Given the description of an element on the screen output the (x, y) to click on. 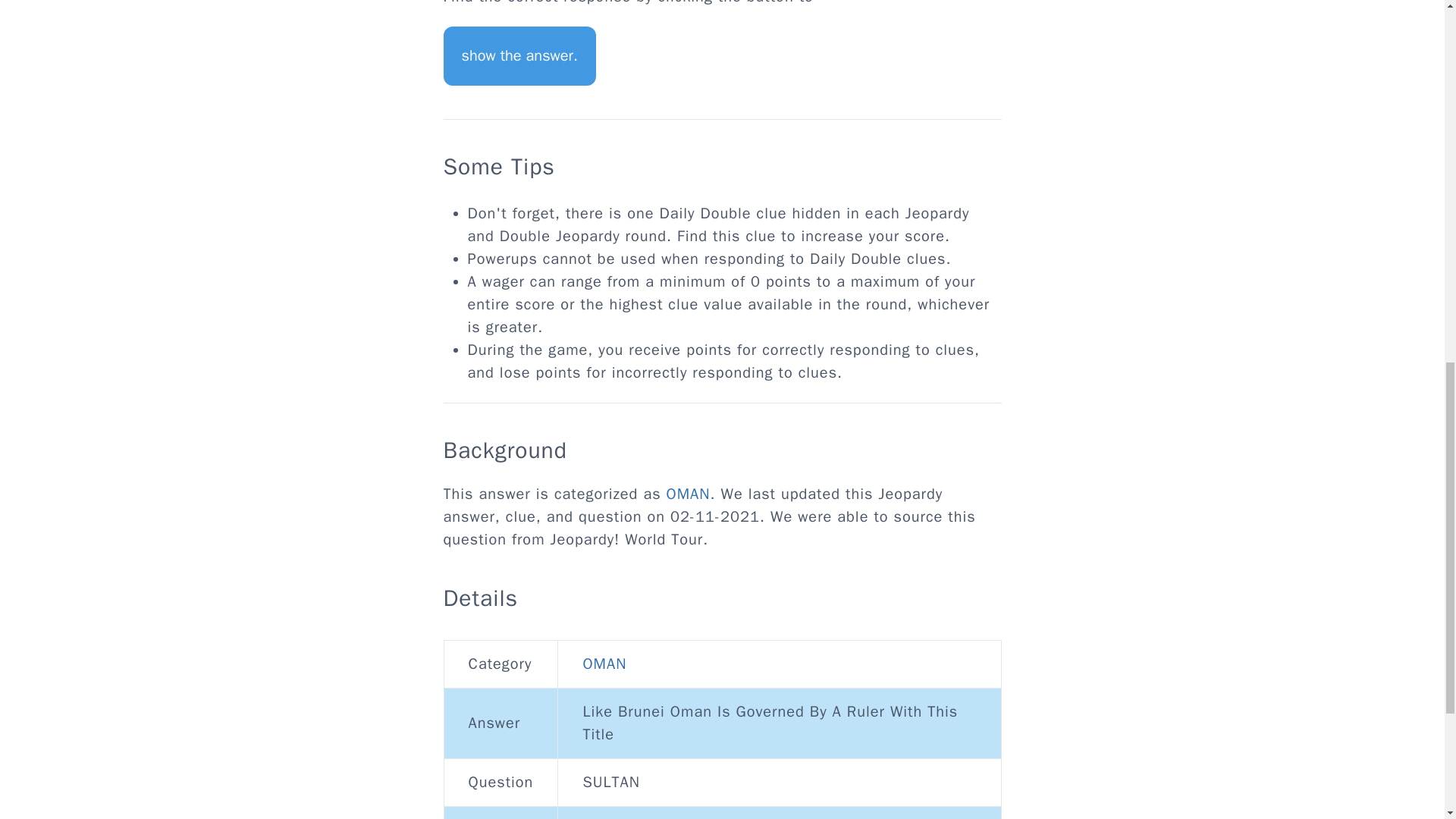
OMAN (604, 663)
show the answer. (518, 55)
OMAN (688, 493)
